Given the description of an element on the screen output the (x, y) to click on. 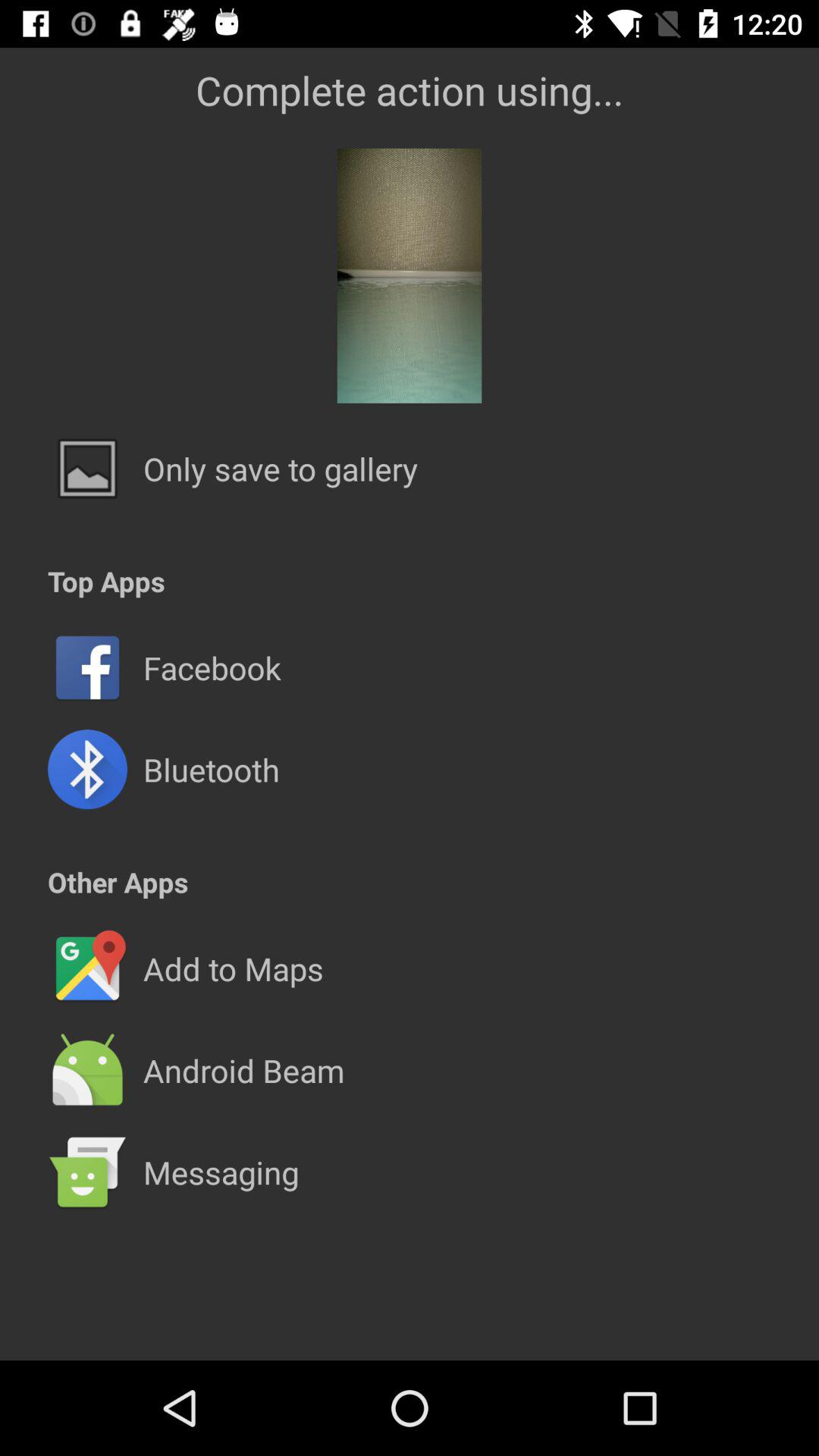
open add to maps (233, 968)
